Given the description of an element on the screen output the (x, y) to click on. 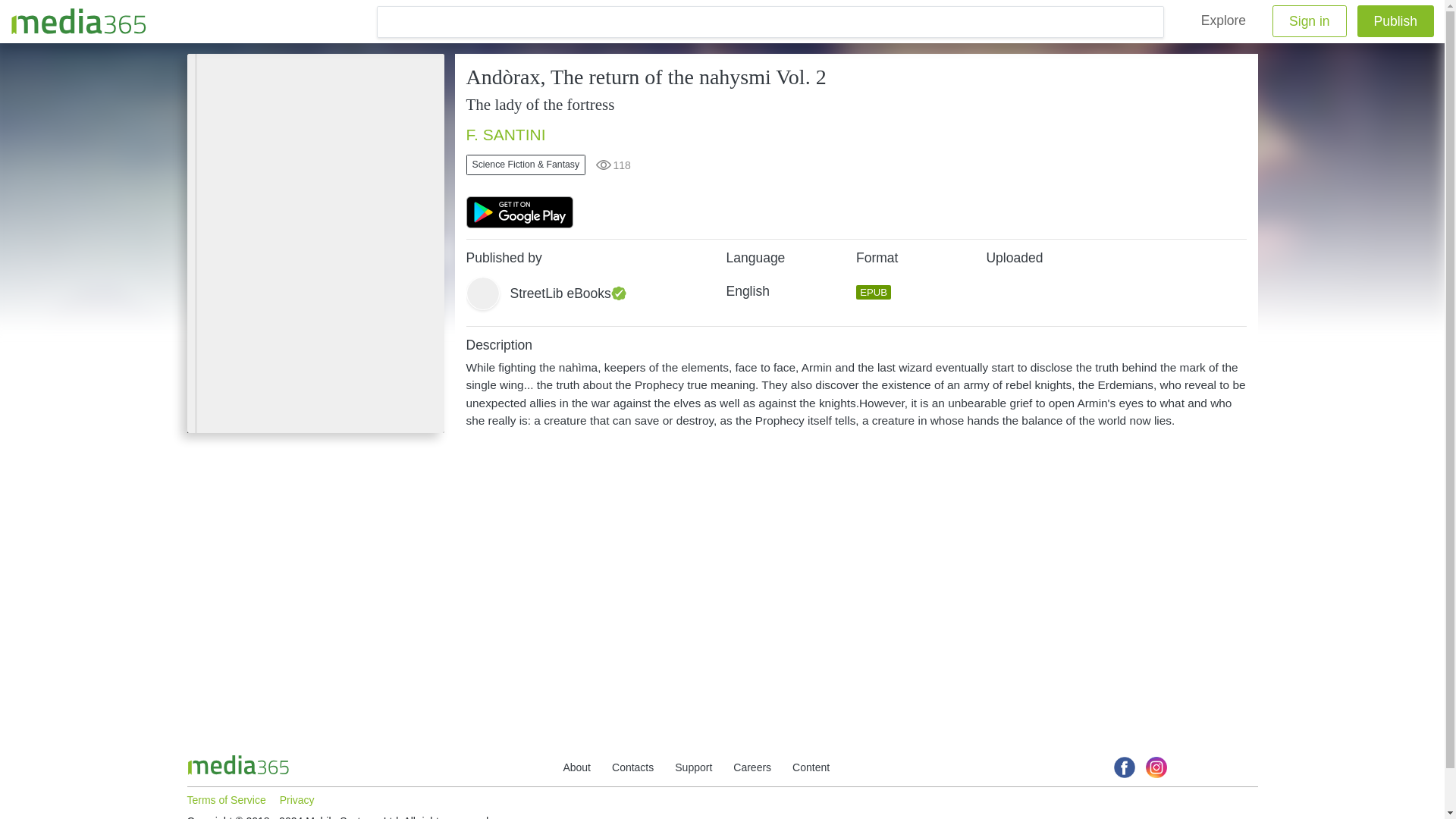
Support (693, 767)
Careers (752, 767)
Content (810, 767)
Explore (1223, 20)
Terms of Service (225, 800)
About (576, 767)
StreetLib eBooks (595, 293)
Publish (1395, 20)
Contacts (632, 767)
Sign in (1309, 20)
